Given the description of an element on the screen output the (x, y) to click on. 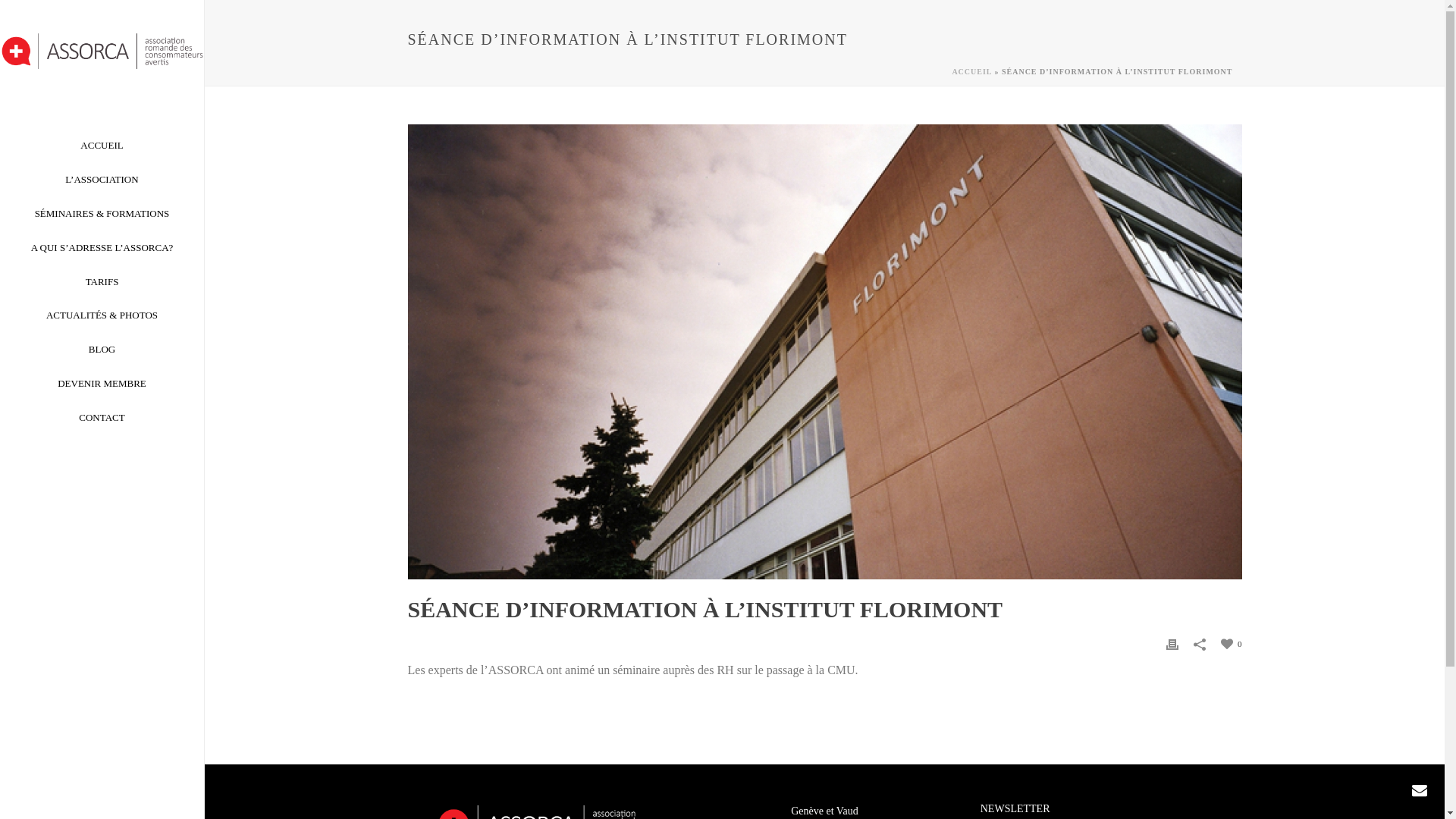
  0 Element type: text (1231, 643)
ACCUEIL Element type: text (101, 145)
TARIFS Element type: text (101, 282)
DEVENIR MEMBRE Element type: text (101, 384)
BLOG Element type: text (101, 349)
Print Element type: hover (1172, 643)
ACCUEIL Element type: text (971, 71)
CONTACT Element type: text (101, 418)
